Given the description of an element on the screen output the (x, y) to click on. 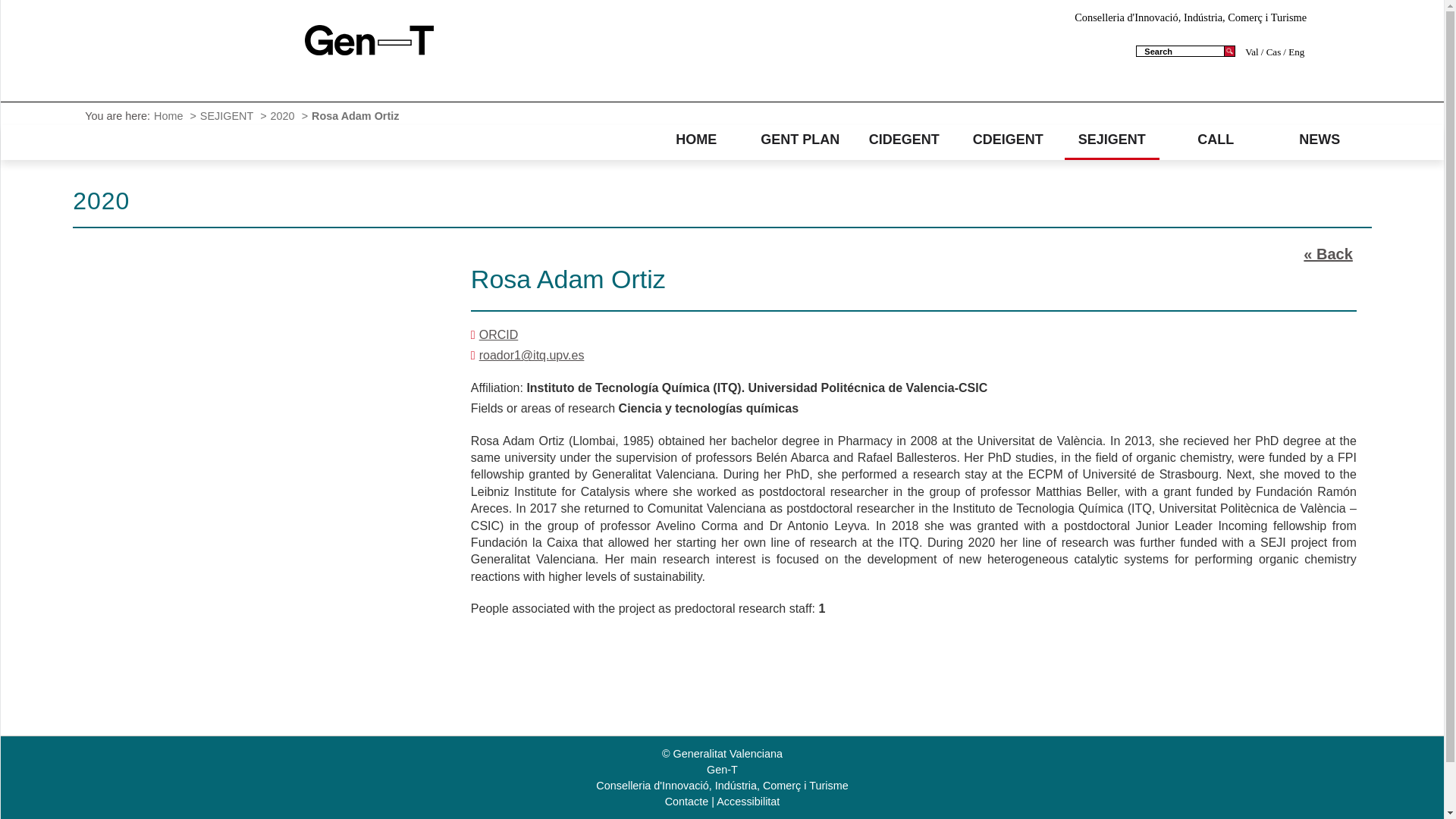
Accessibilitat (747, 801)
SEJIGENT (228, 115)
Cerca (1229, 50)
Search (1181, 50)
CDEIGENT (1007, 139)
NEWS (1319, 139)
ORCID (498, 334)
CALL (1216, 139)
Contacte (687, 801)
SEJIGENT (1111, 139)
Logo Gen-T (368, 39)
Home (170, 115)
Val (1252, 51)
Eng (1294, 51)
GENT PLAN (799, 139)
